Given the description of an element on the screen output the (x, y) to click on. 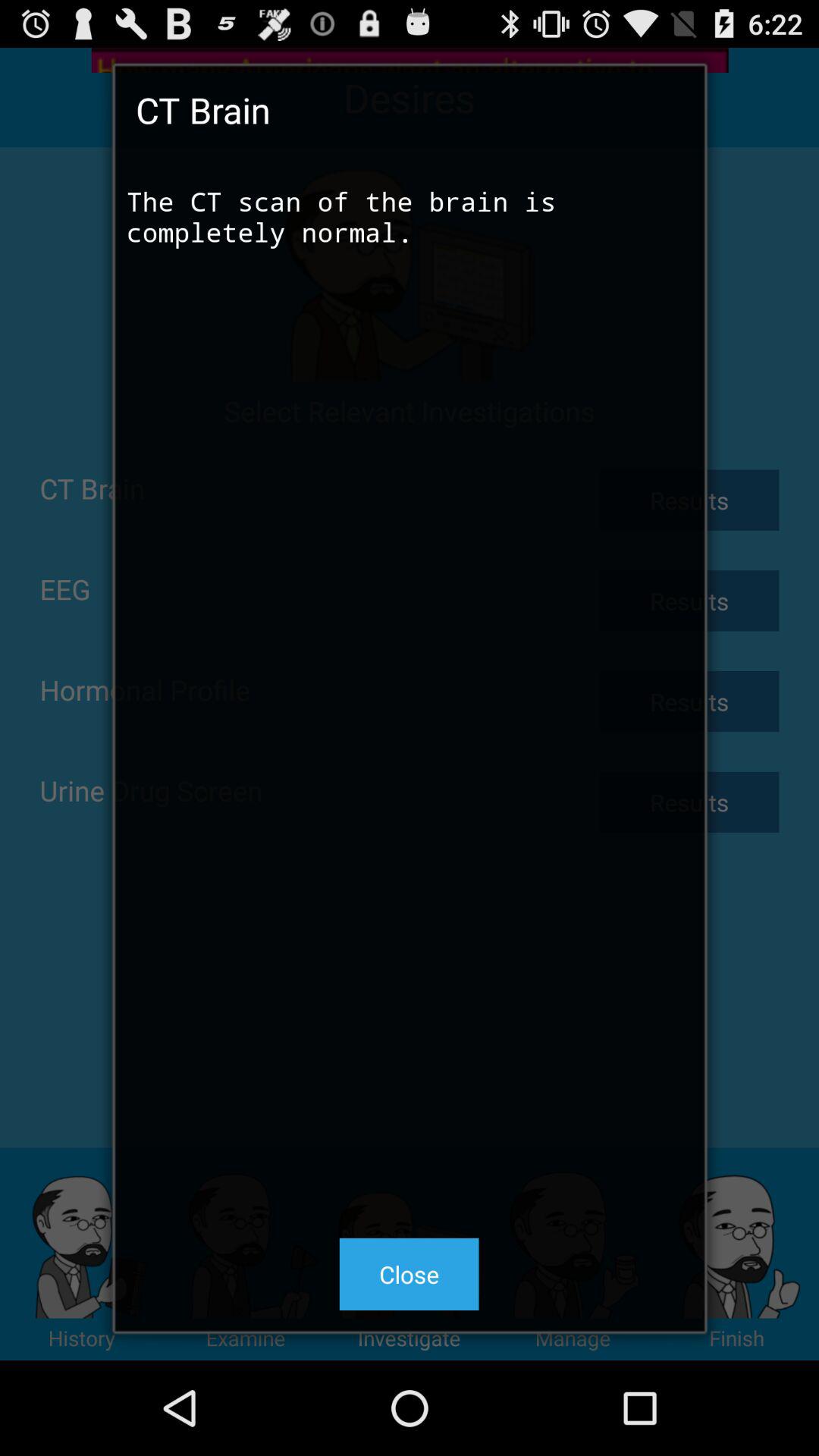
open the close item (408, 1274)
